Given the description of an element on the screen output the (x, y) to click on. 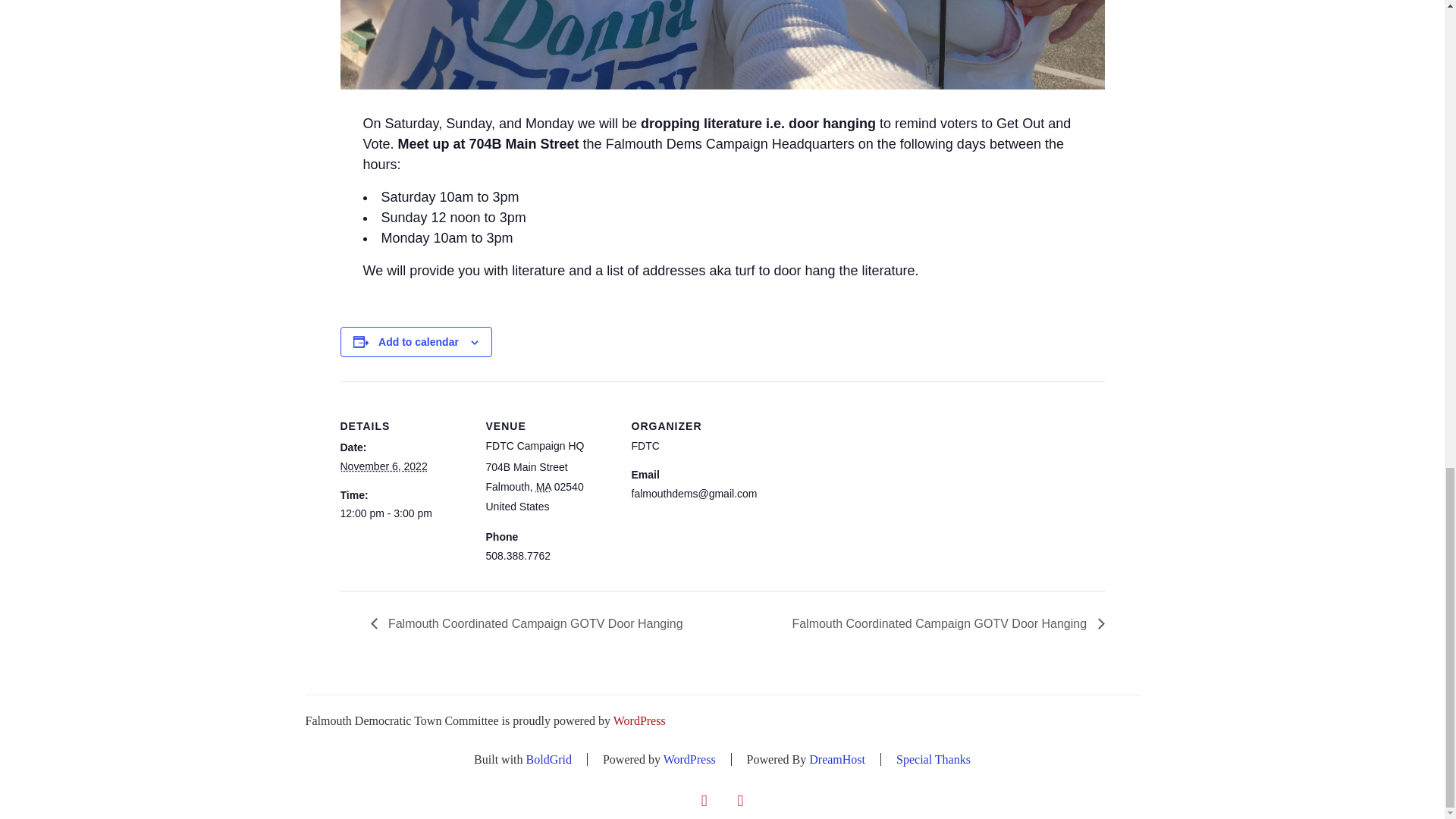
2022-11-06 (382, 466)
Falmouth Coordinated Campaign GOTV Door Hanging (529, 623)
Special Thanks (933, 758)
WordPress (638, 720)
BoldGrid (548, 758)
Massachusetts (543, 486)
WordPress (689, 758)
2022-11-06 (403, 513)
Add to calendar (418, 341)
Falmouth Coordinated Campaign GOTV Door Hanging (943, 623)
DreamHost (836, 758)
